Given the description of an element on the screen output the (x, y) to click on. 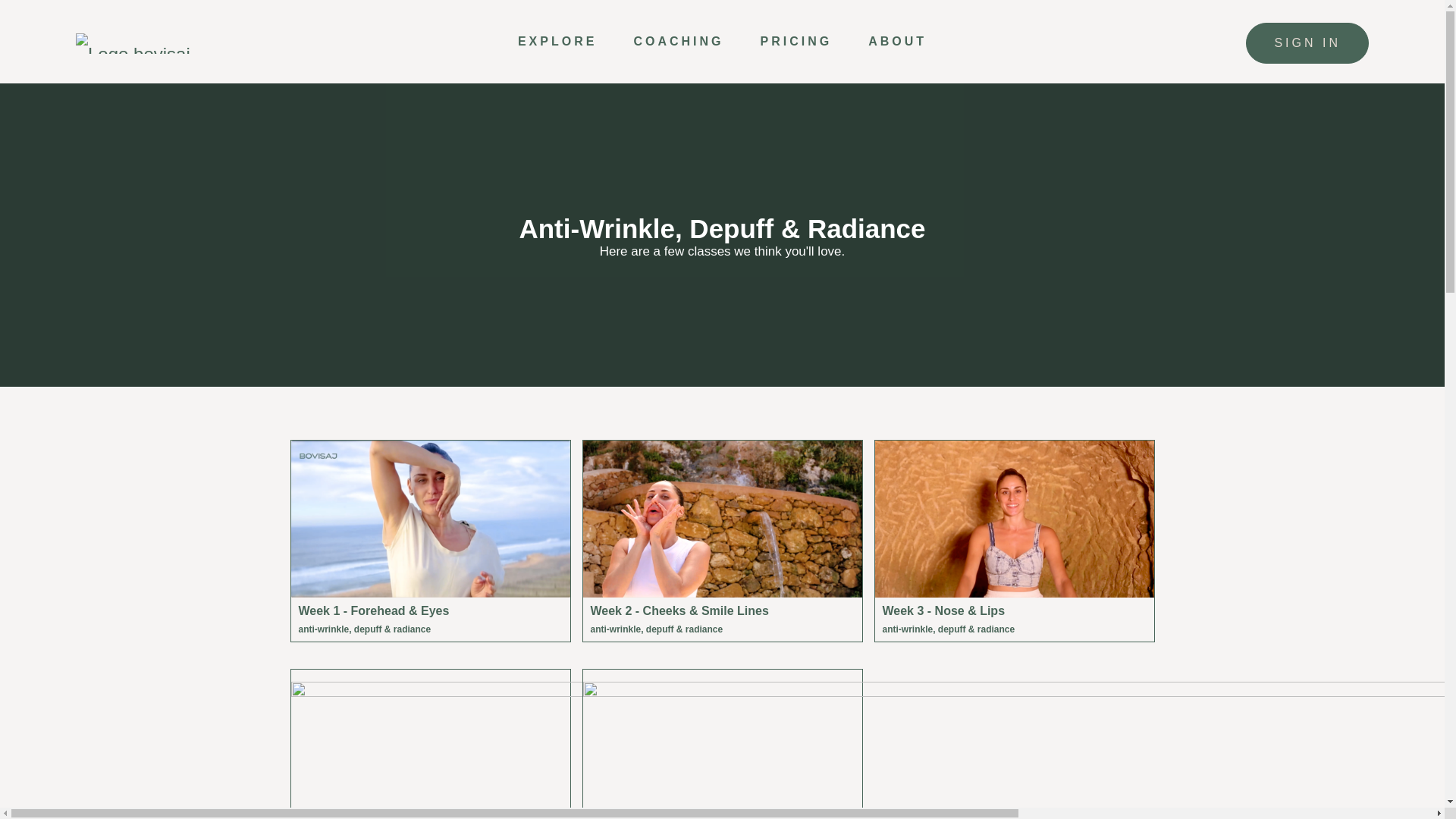
COACHING (678, 41)
PRICING (795, 41)
EXPLORE (557, 41)
SIGN IN (1307, 42)
ABOUT (896, 41)
